Given the description of an element on the screen output the (x, y) to click on. 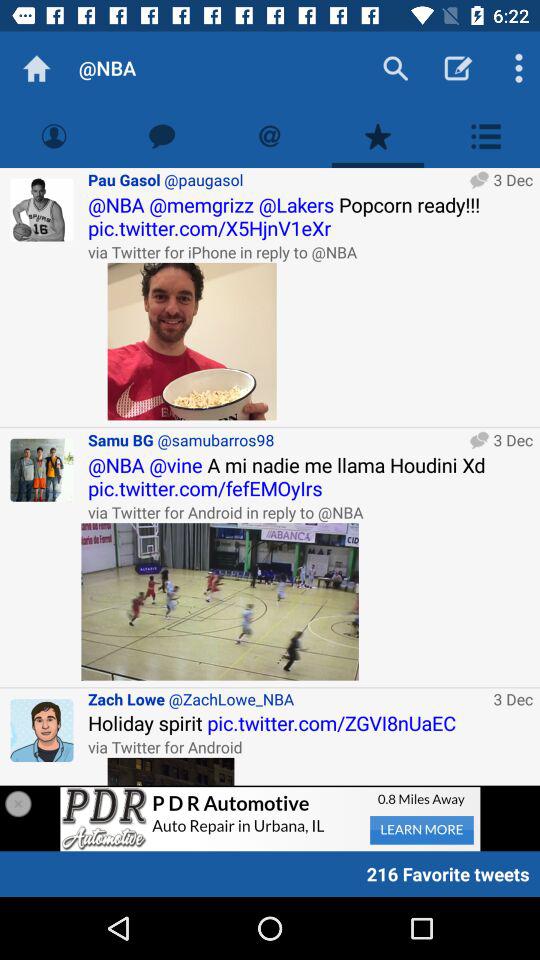
open the icon next to 3 dec (219, 601)
